Given the description of an element on the screen output the (x, y) to click on. 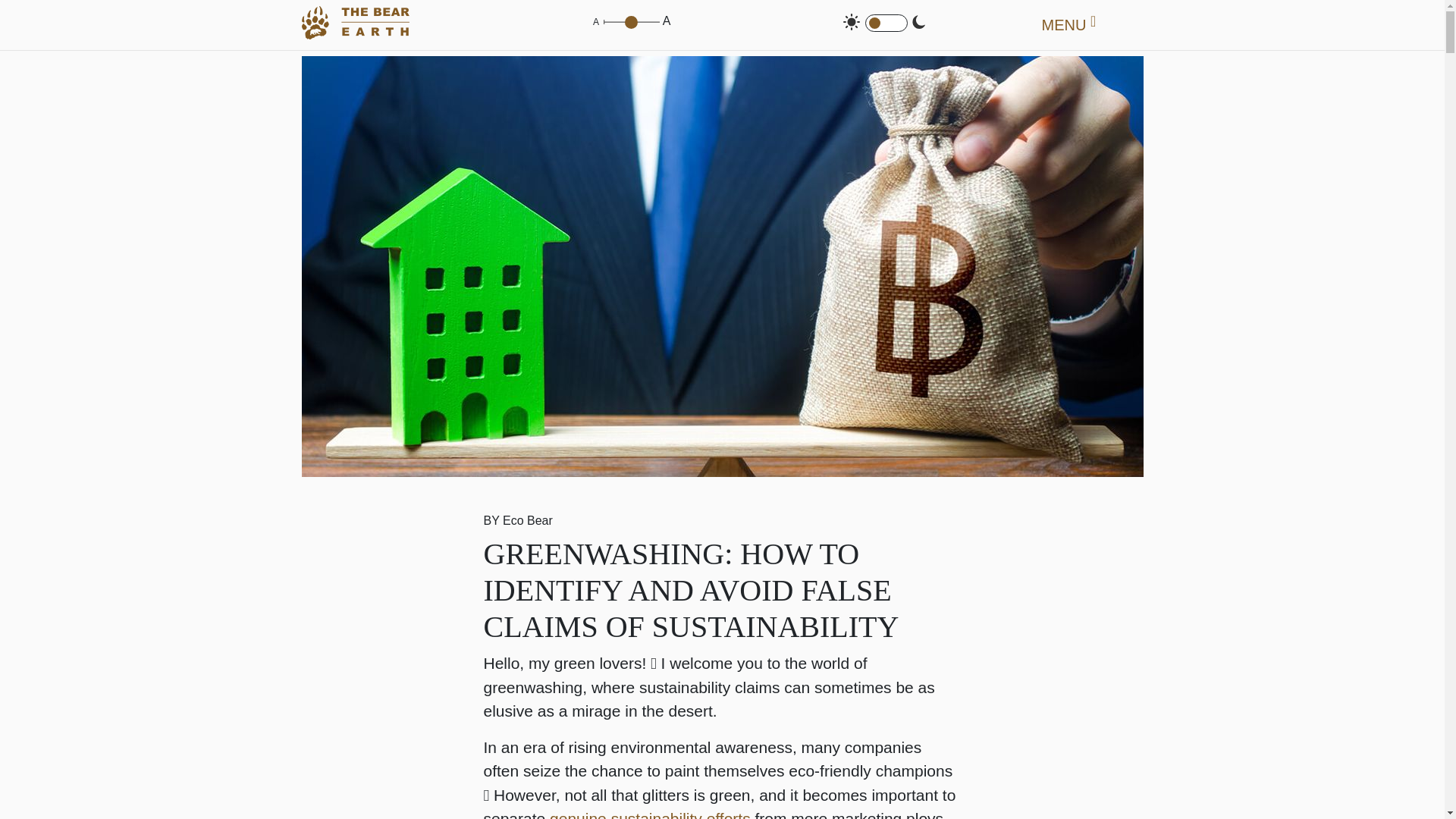
2 (631, 23)
MENU (1068, 24)
genuine sustainability efforts (650, 814)
